Given the description of an element on the screen output the (x, y) to click on. 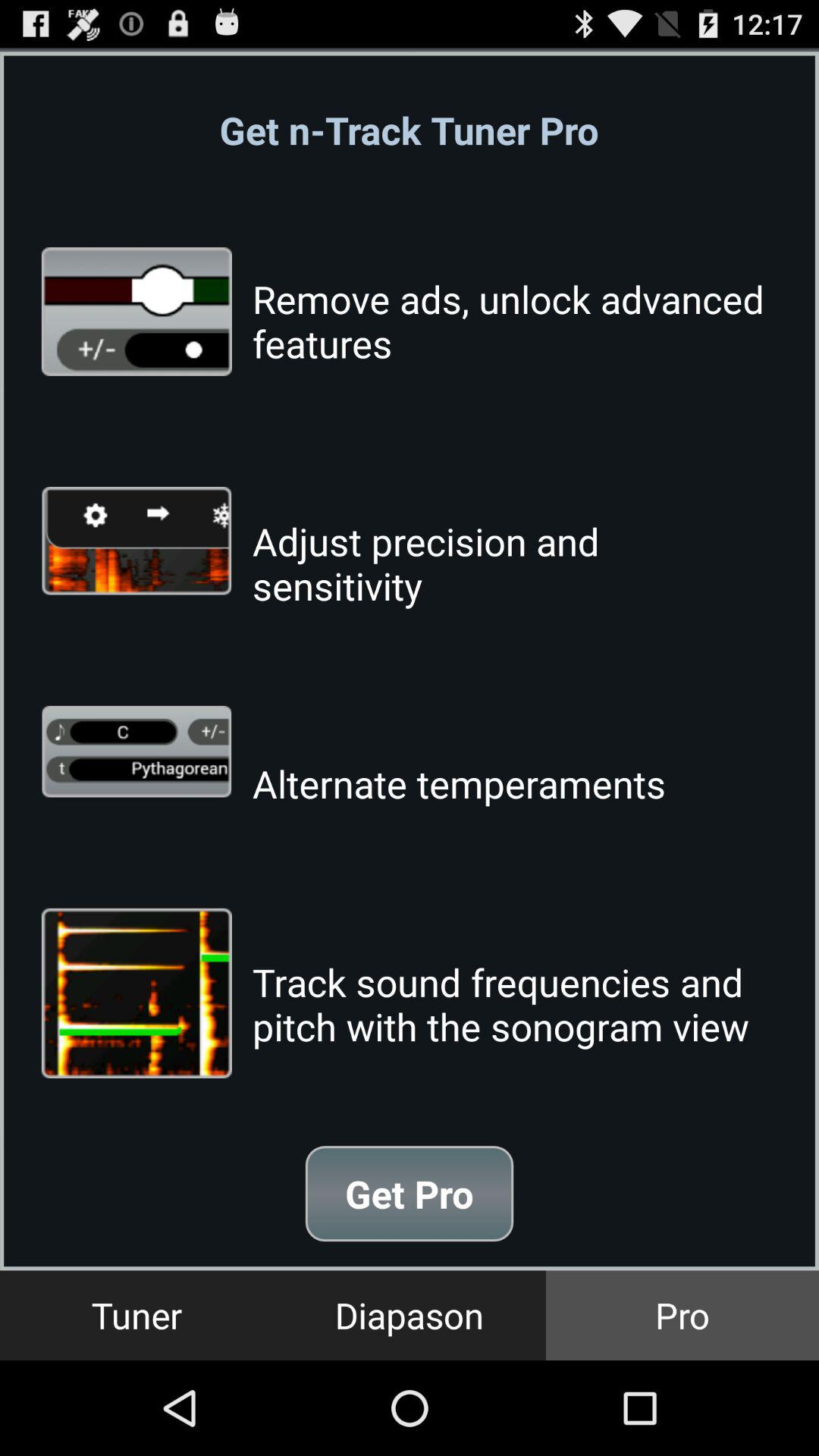
choose get n track item (408, 130)
